Given the description of an element on the screen output the (x, y) to click on. 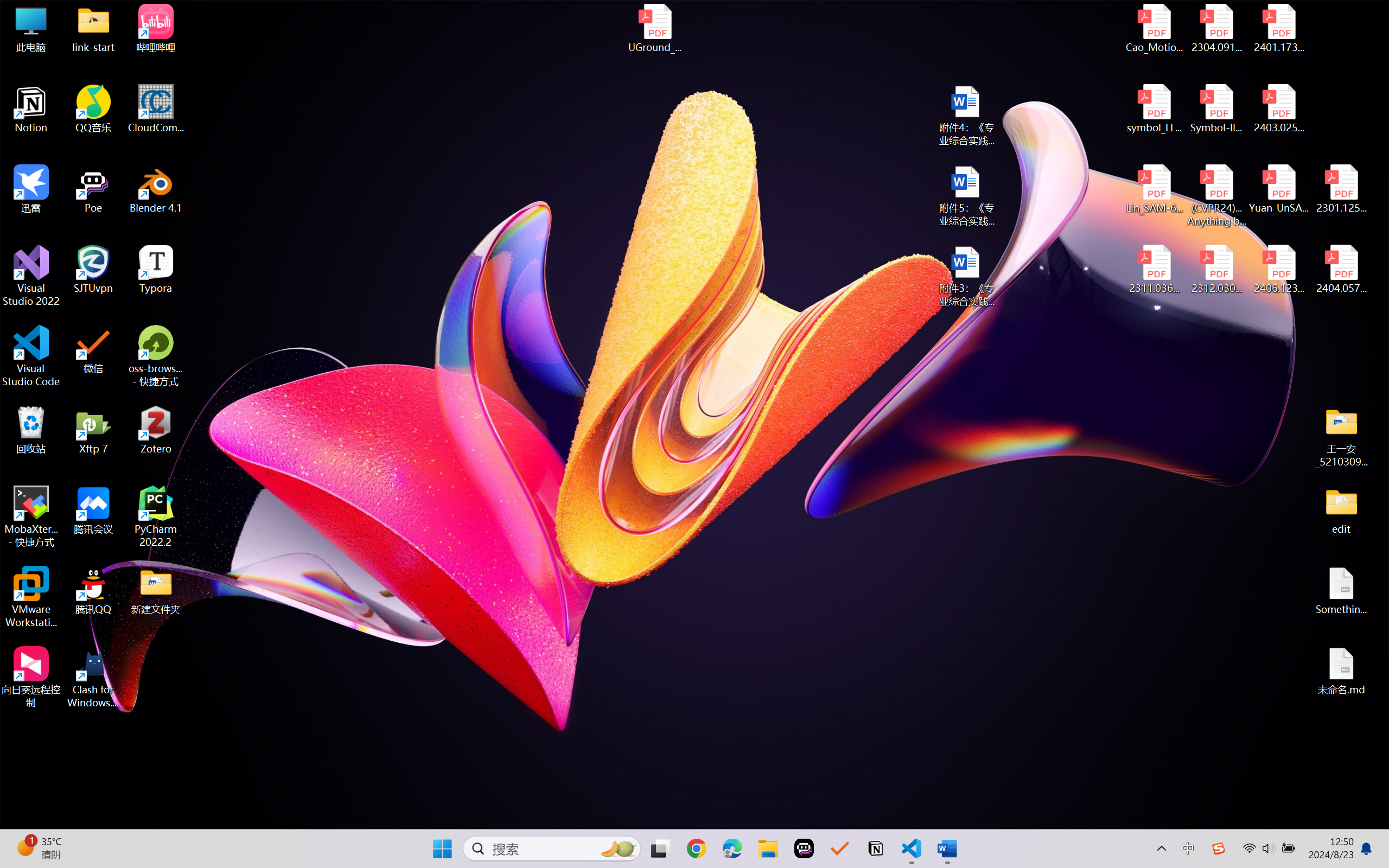
Symbol-llm-v2.pdf (1216, 109)
2301.12597v3.pdf (1340, 189)
CloudCompare (156, 109)
Something.md (1340, 591)
(CVPR24)Matching Anything by Segmenting Anything.pdf (1216, 195)
2406.12373v2.pdf (1278, 269)
